Given the description of an element on the screen output the (x, y) to click on. 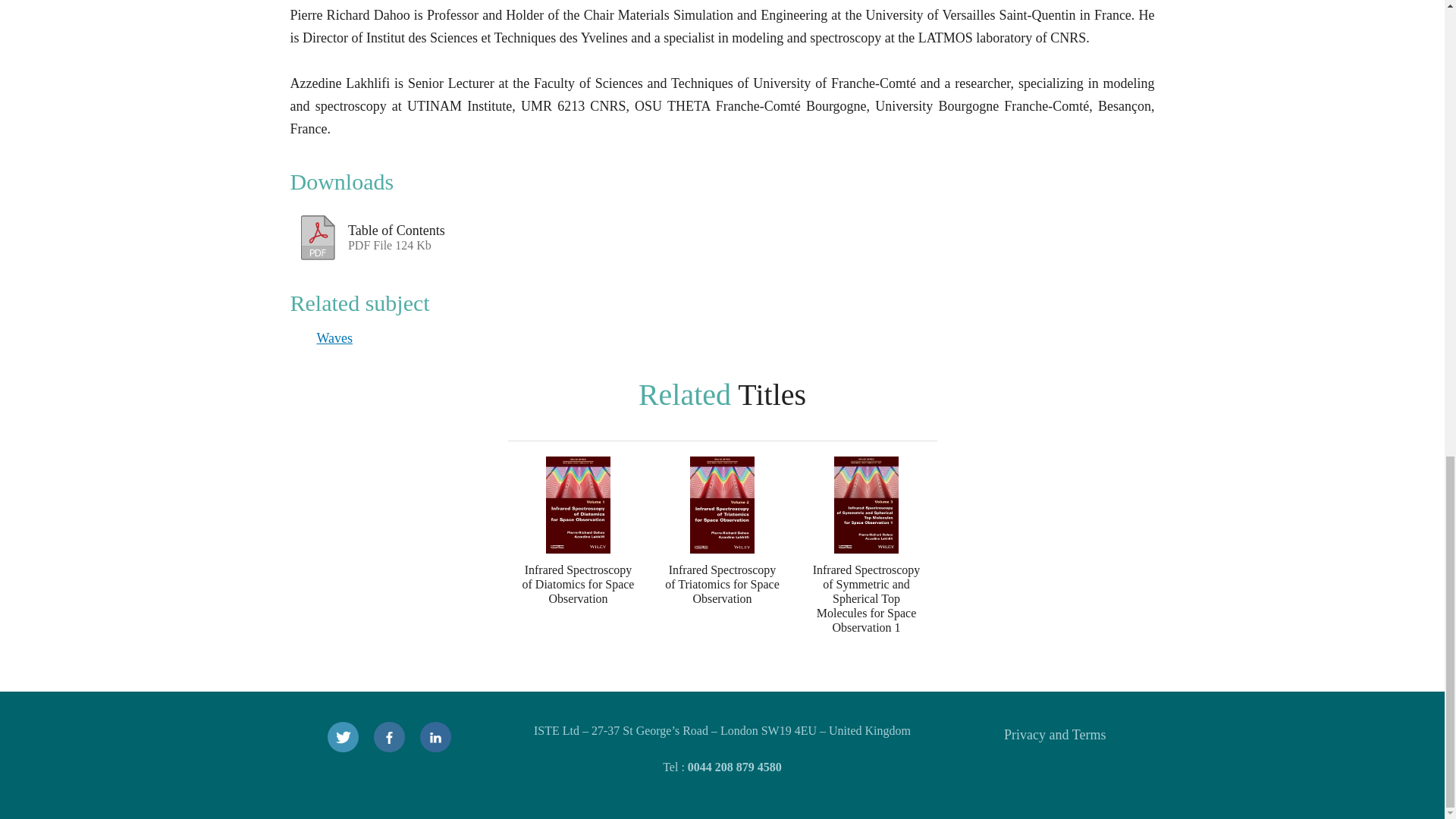
Privacy and Terms (499, 228)
Download PDF file (1054, 734)
Waves (318, 233)
